Given the description of an element on the screen output the (x, y) to click on. 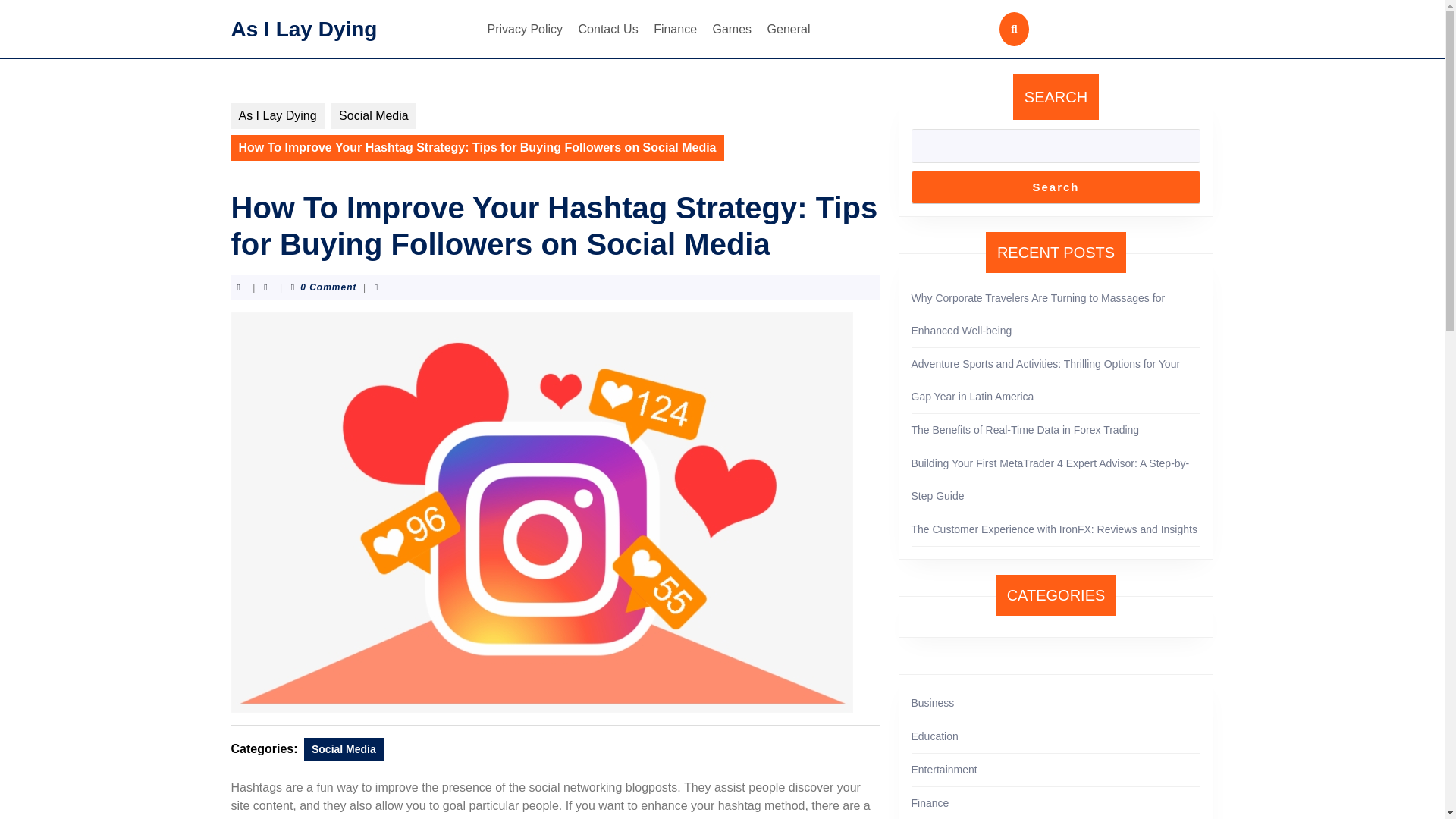
Business (933, 702)
The Customer Experience with IronFX: Reviews and Insights (1053, 529)
Social Media (344, 748)
Education (934, 736)
As I Lay Dying (303, 28)
Games (732, 28)
Contact Us (608, 28)
As I Lay Dying (276, 115)
